Given the description of an element on the screen output the (x, y) to click on. 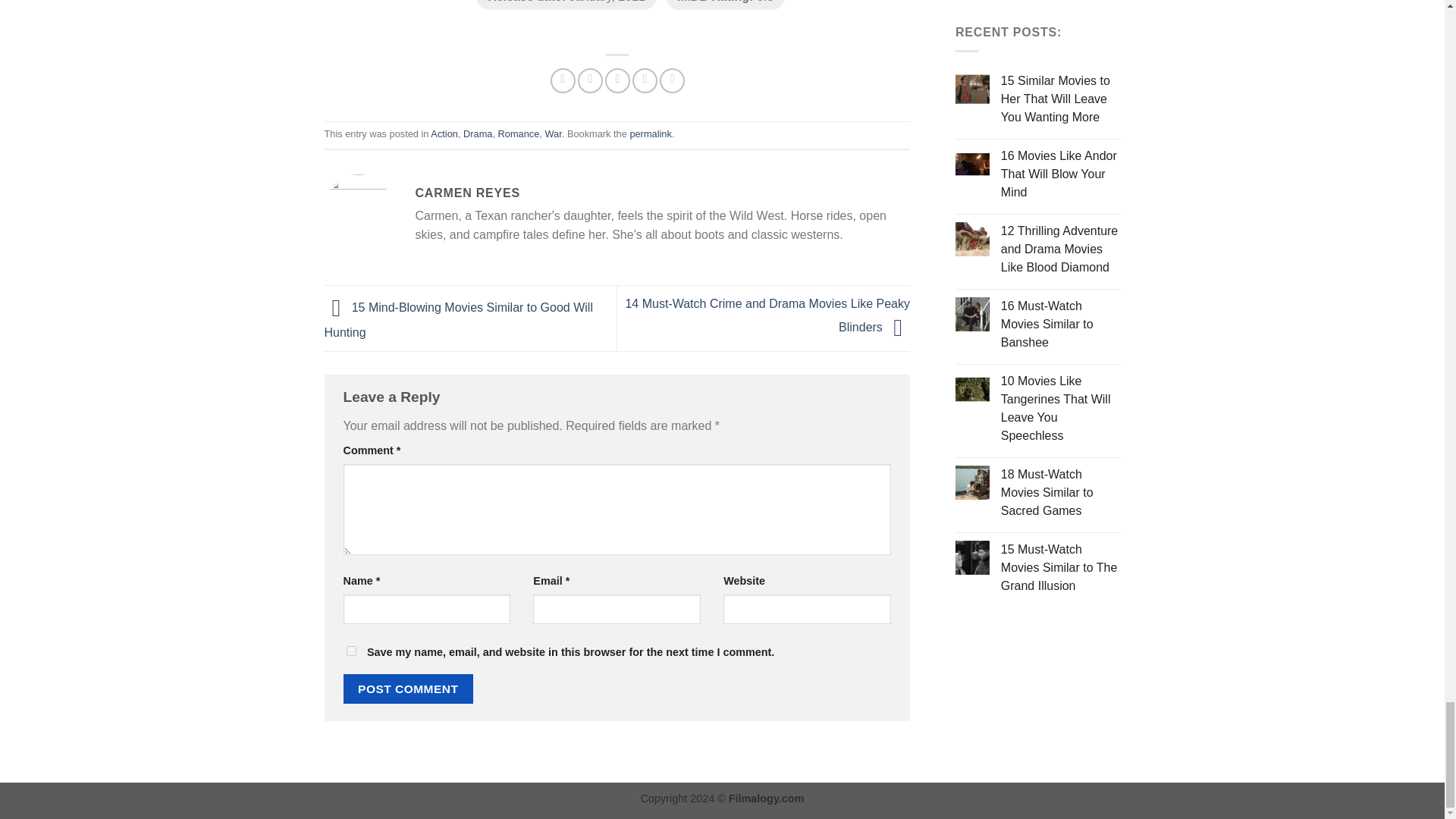
Post Comment (407, 688)
Share on Facebook (562, 80)
Share on Twitter (590, 80)
Drama (477, 133)
Pin on Pinterest (644, 80)
War (552, 133)
Post Comment (407, 688)
15 Mind-Blowing Movies Similar to Good Will Hunting (458, 320)
Share on LinkedIn (671, 80)
Email to a Friend (617, 80)
Romance (518, 133)
Action (444, 133)
14 Must-Watch Crime and Drama Movies Like Peaky Blinders (767, 315)
permalink (649, 133)
